Given the description of an element on the screen output the (x, y) to click on. 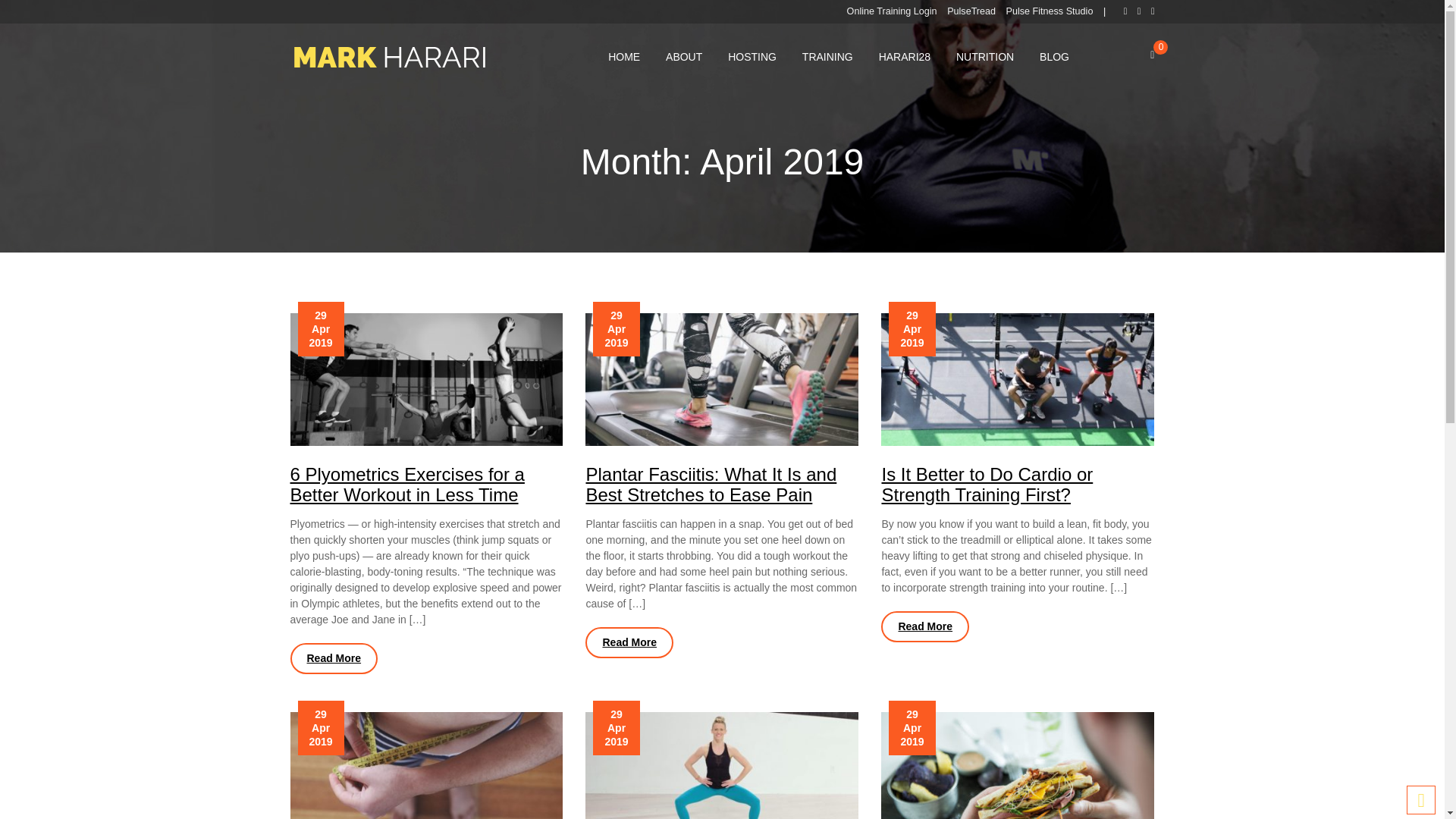
Read More (924, 626)
HOSTING (751, 56)
PulseTread (971, 10)
TRAINING (827, 56)
Read More (333, 658)
6 Plyometrics Exercises for a Better Workout in Less Time (406, 484)
HARARI28 (904, 56)
Online Training Login (892, 10)
NUTRITION (984, 56)
